Given the description of an element on the screen output the (x, y) to click on. 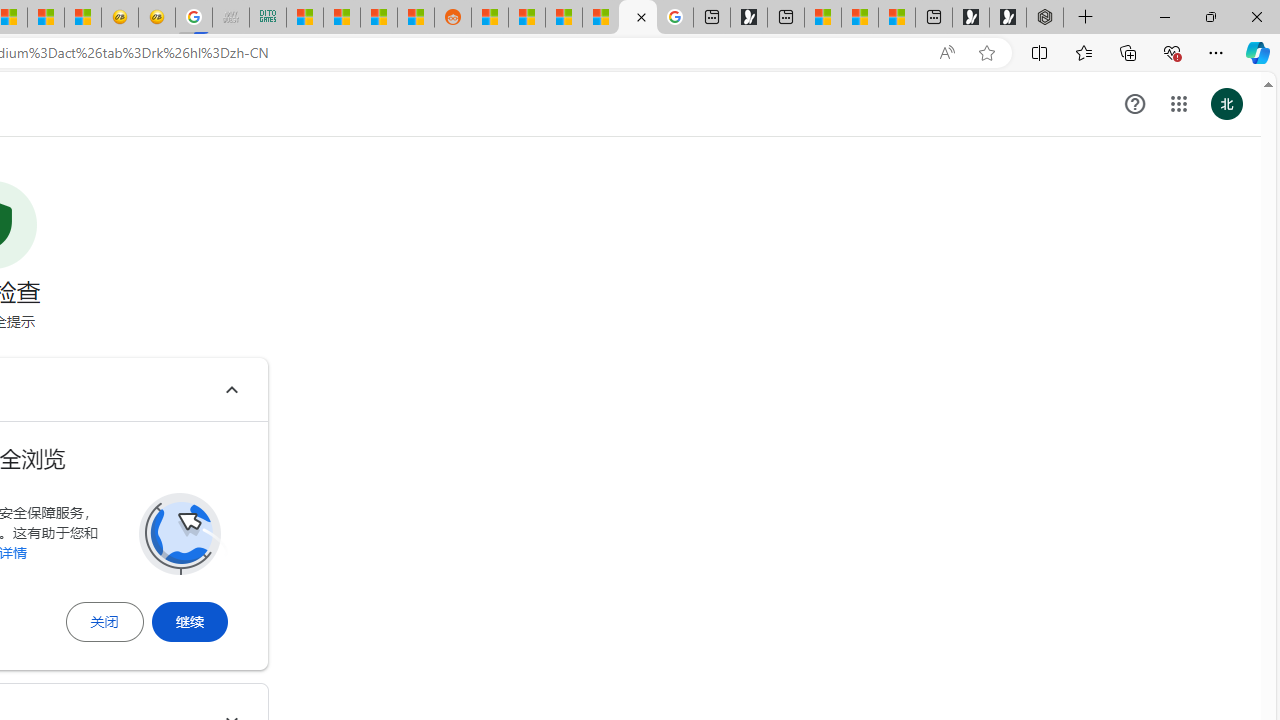
These 3 Stocks Pay You More Than 5% to Own Them (897, 17)
